Given the description of an element on the screen output the (x, y) to click on. 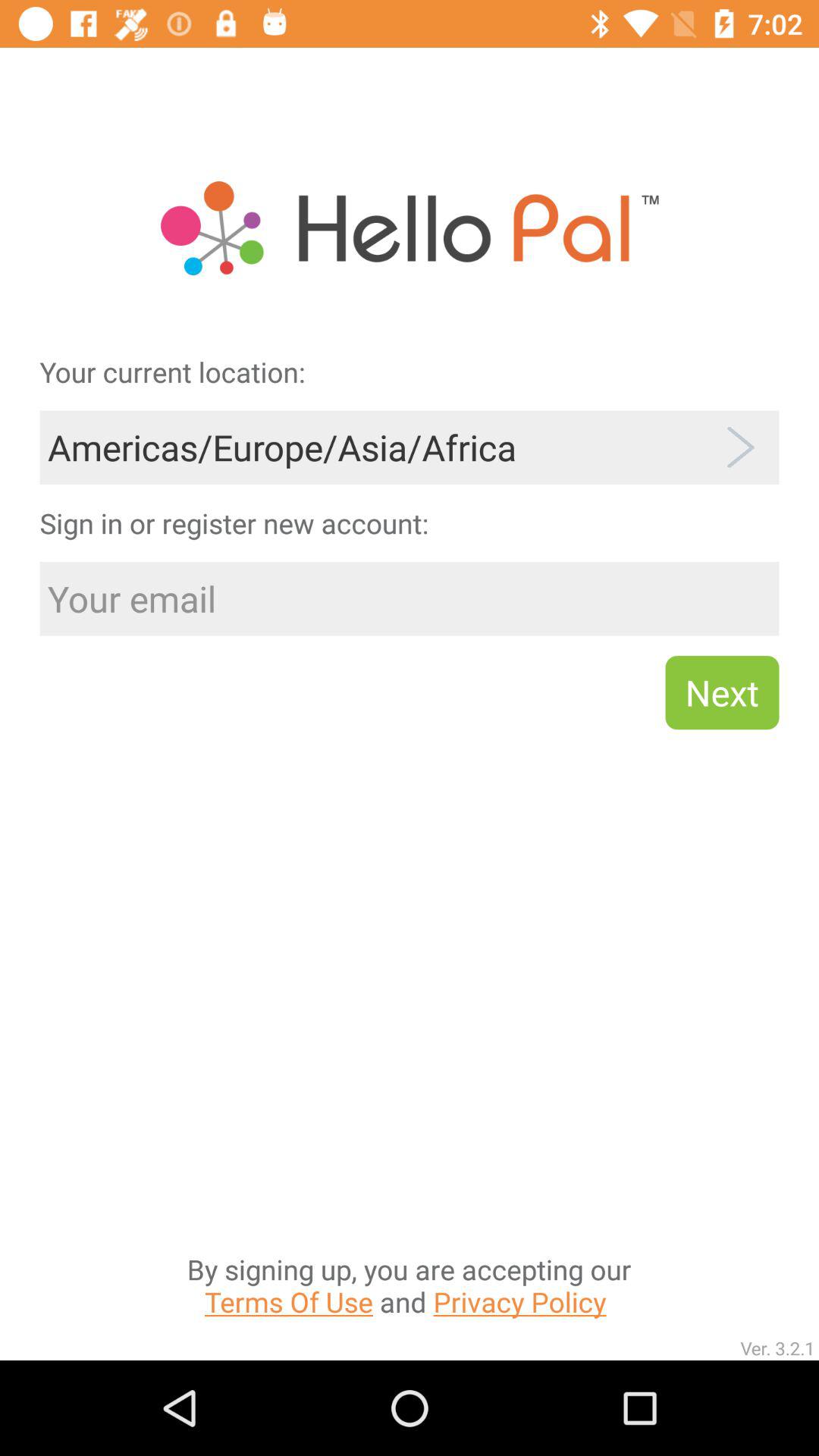
select the item on the right (722, 692)
